Given the description of an element on the screen output the (x, y) to click on. 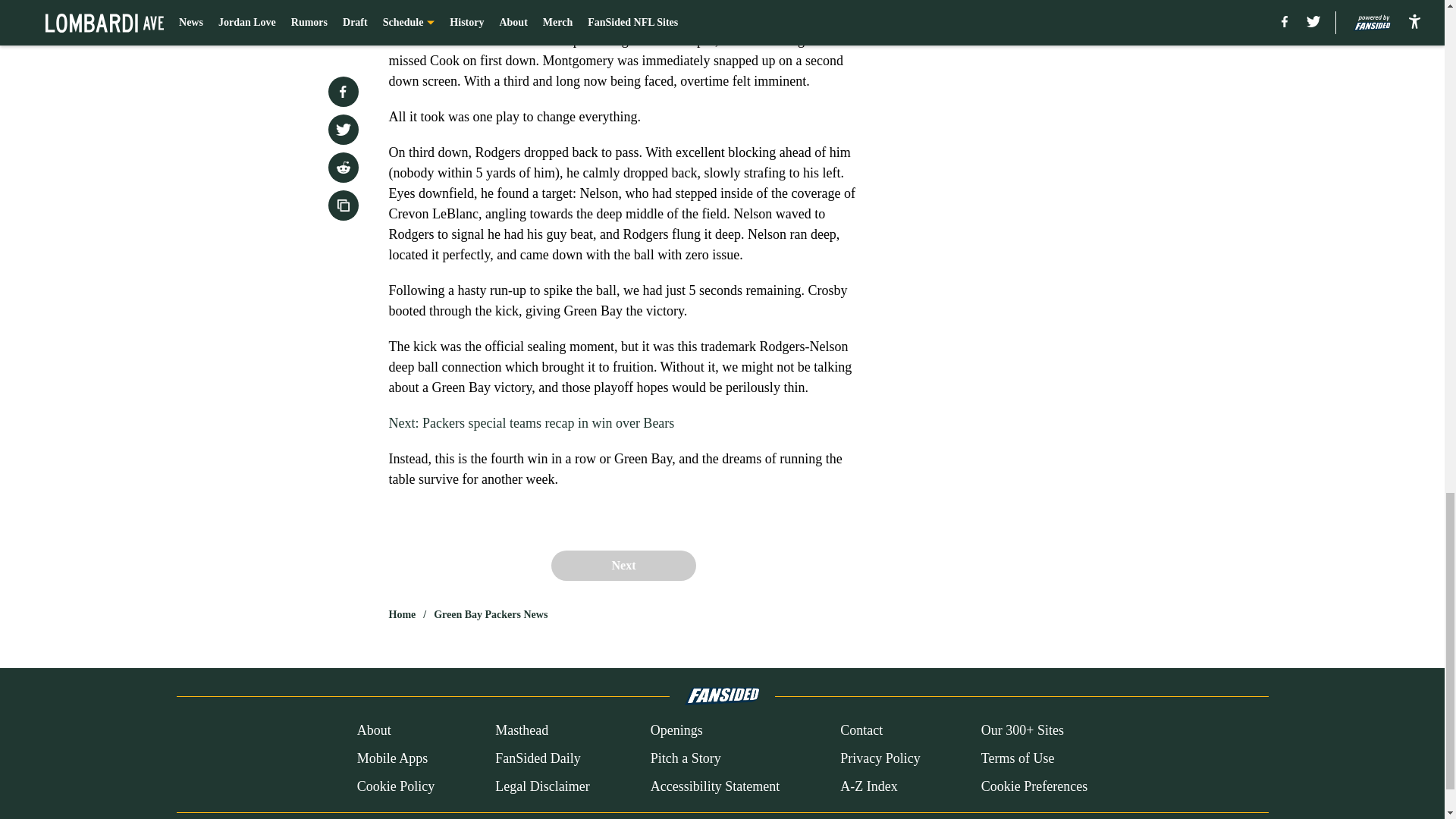
Next (622, 565)
About (373, 730)
Cookie Policy (395, 786)
Privacy Policy (880, 758)
Next: Packers special teams recap in win over Bears (531, 422)
Masthead (521, 730)
Home (401, 614)
Pitch a Story (685, 758)
Openings (676, 730)
FanSided Daily (537, 758)
